Given the description of an element on the screen output the (x, y) to click on. 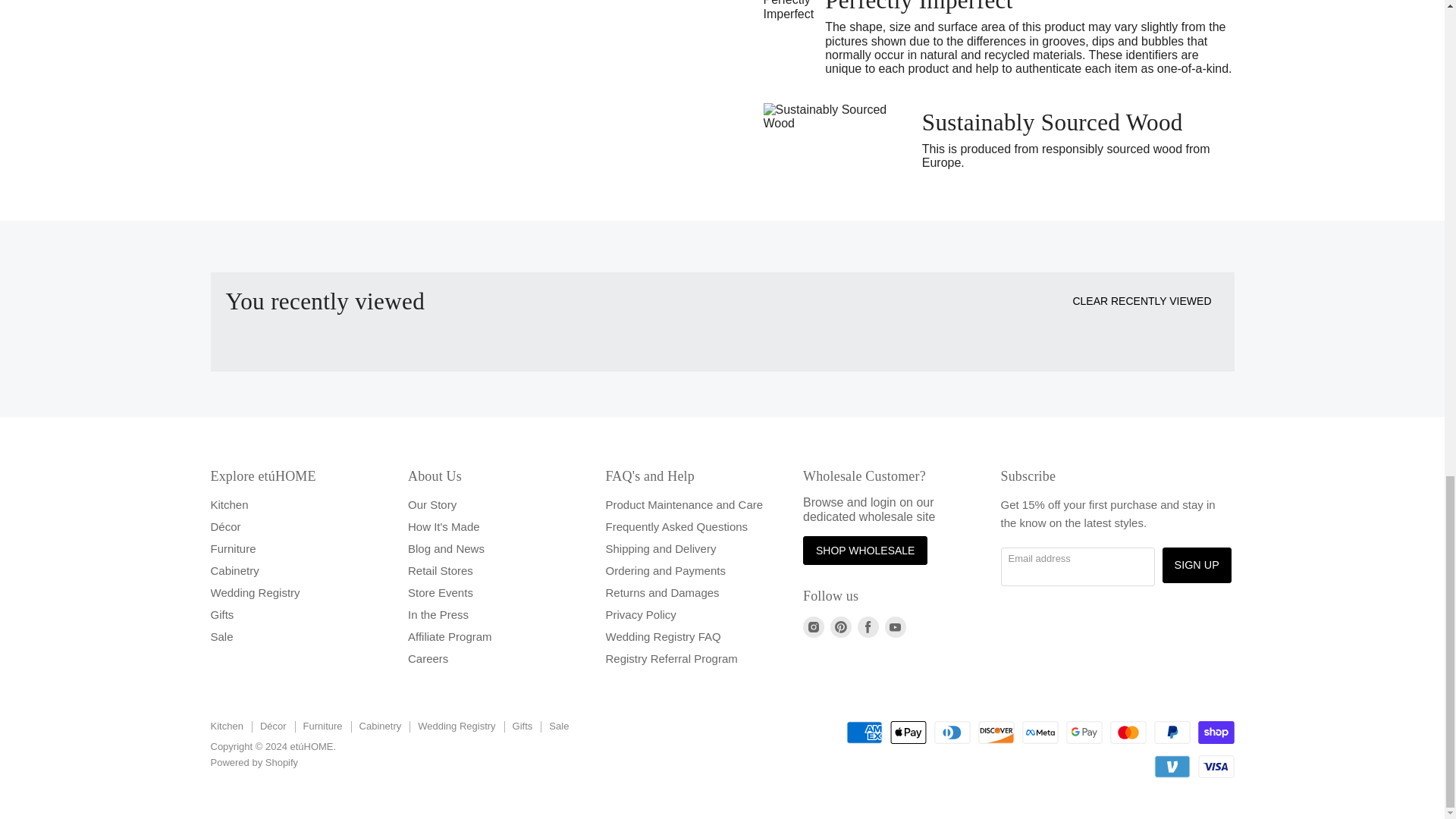
Apple Pay (907, 732)
American Express (863, 732)
Youtube (895, 626)
Instagram (813, 626)
Pinterest (840, 626)
Diners Club (952, 732)
Facebook (868, 626)
